Given the description of an element on the screen output the (x, y) to click on. 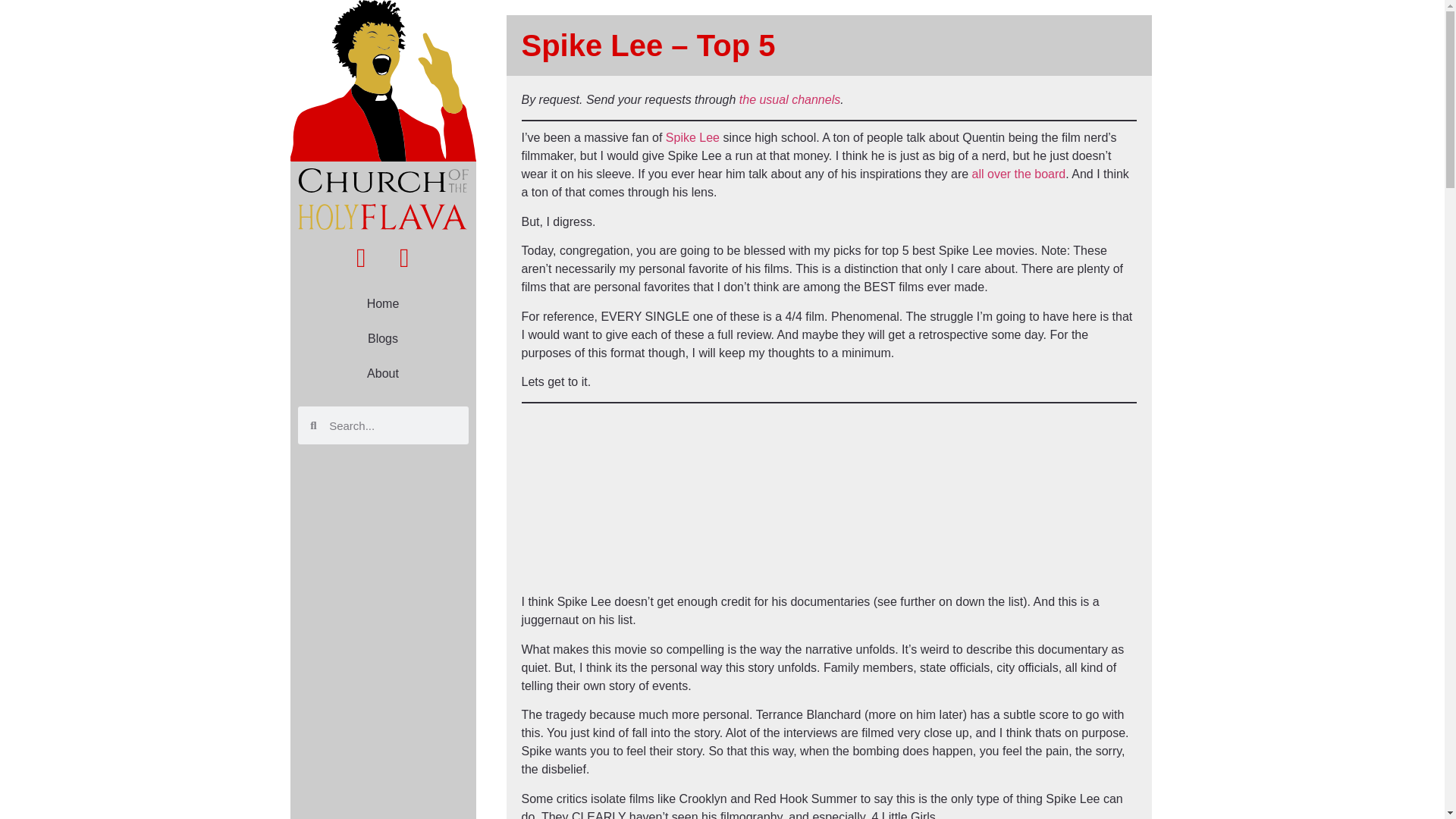
all over the board (1018, 173)
the usual channels (789, 99)
Home (382, 303)
Blogs (382, 338)
Spike Lee (692, 137)
About (382, 373)
